Given the description of an element on the screen output the (x, y) to click on. 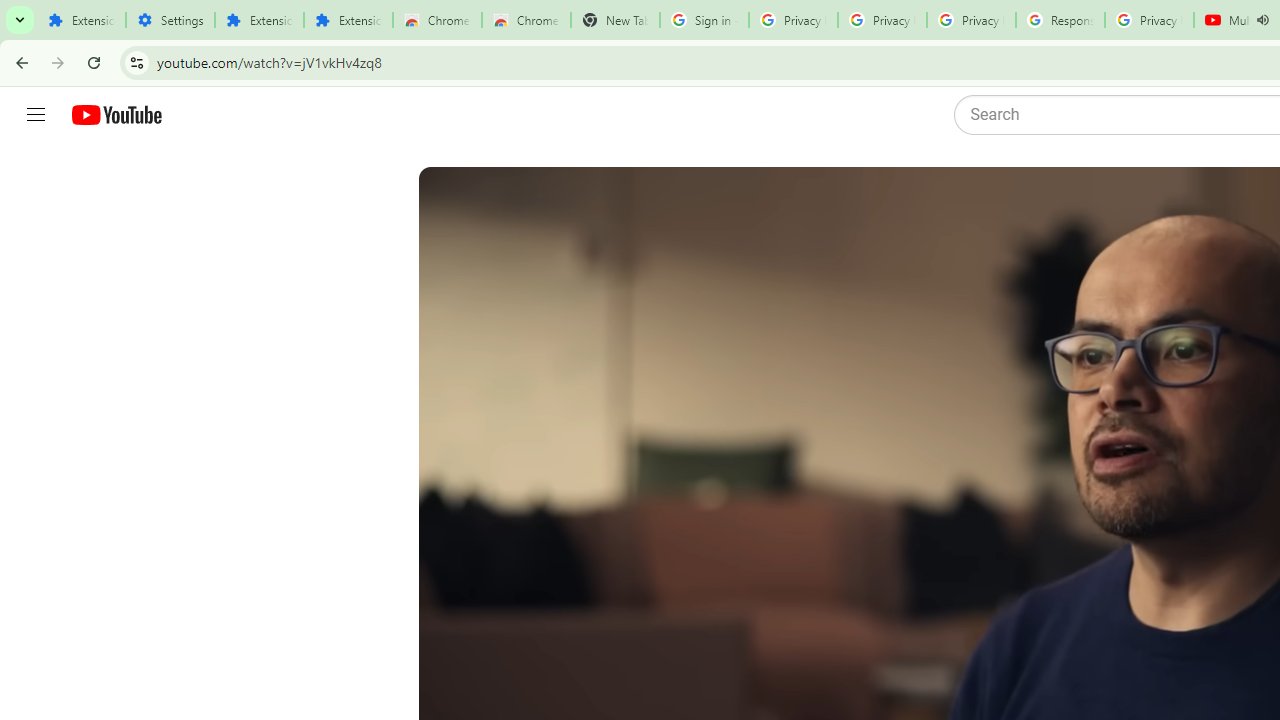
Sign in - Google Accounts (704, 20)
Chrome Web Store (437, 20)
New Tab (615, 20)
Extensions (259, 20)
